Given the description of an element on the screen output the (x, y) to click on. 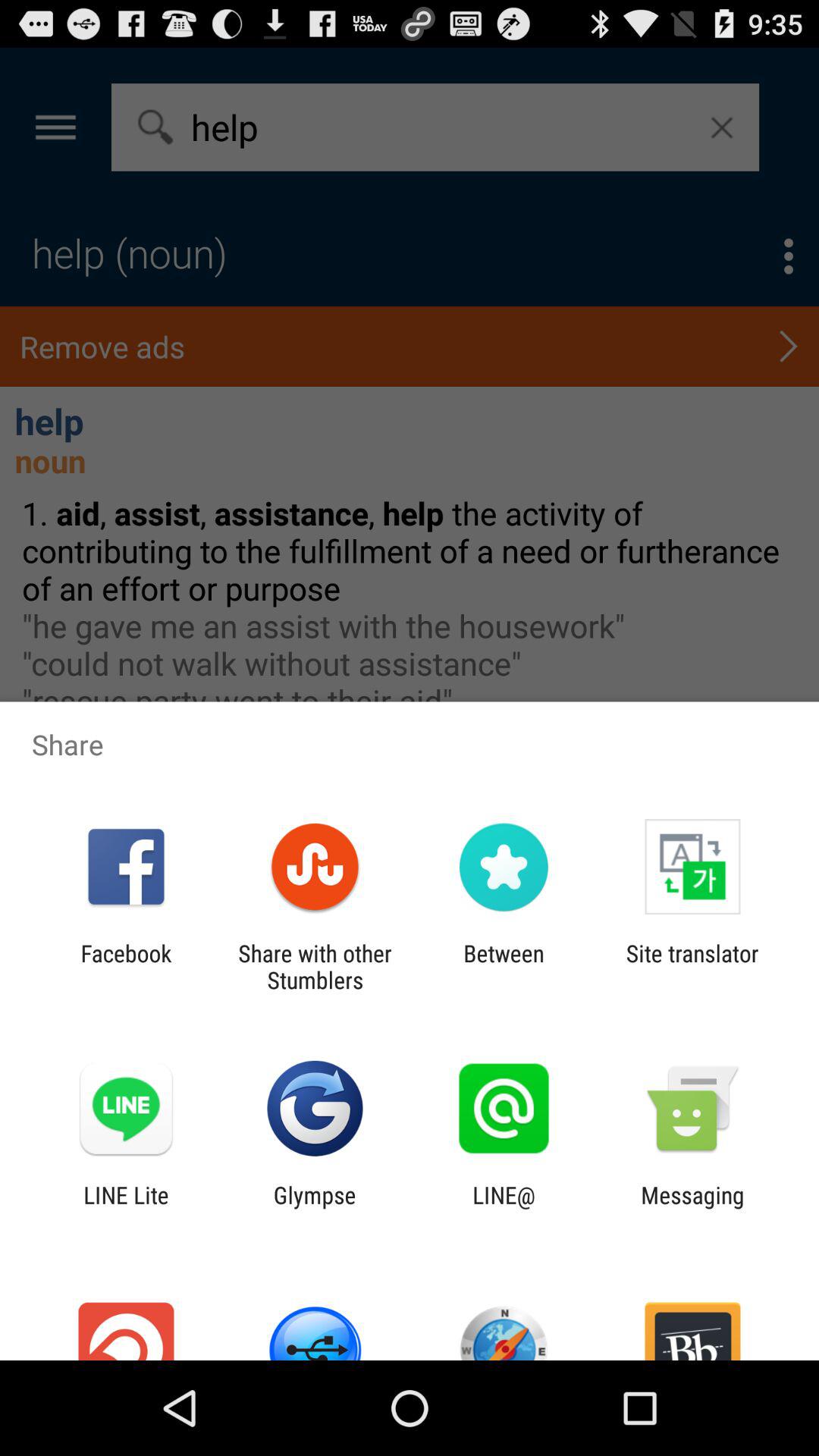
choose icon next to line lite item (314, 1208)
